Given the description of an element on the screen output the (x, y) to click on. 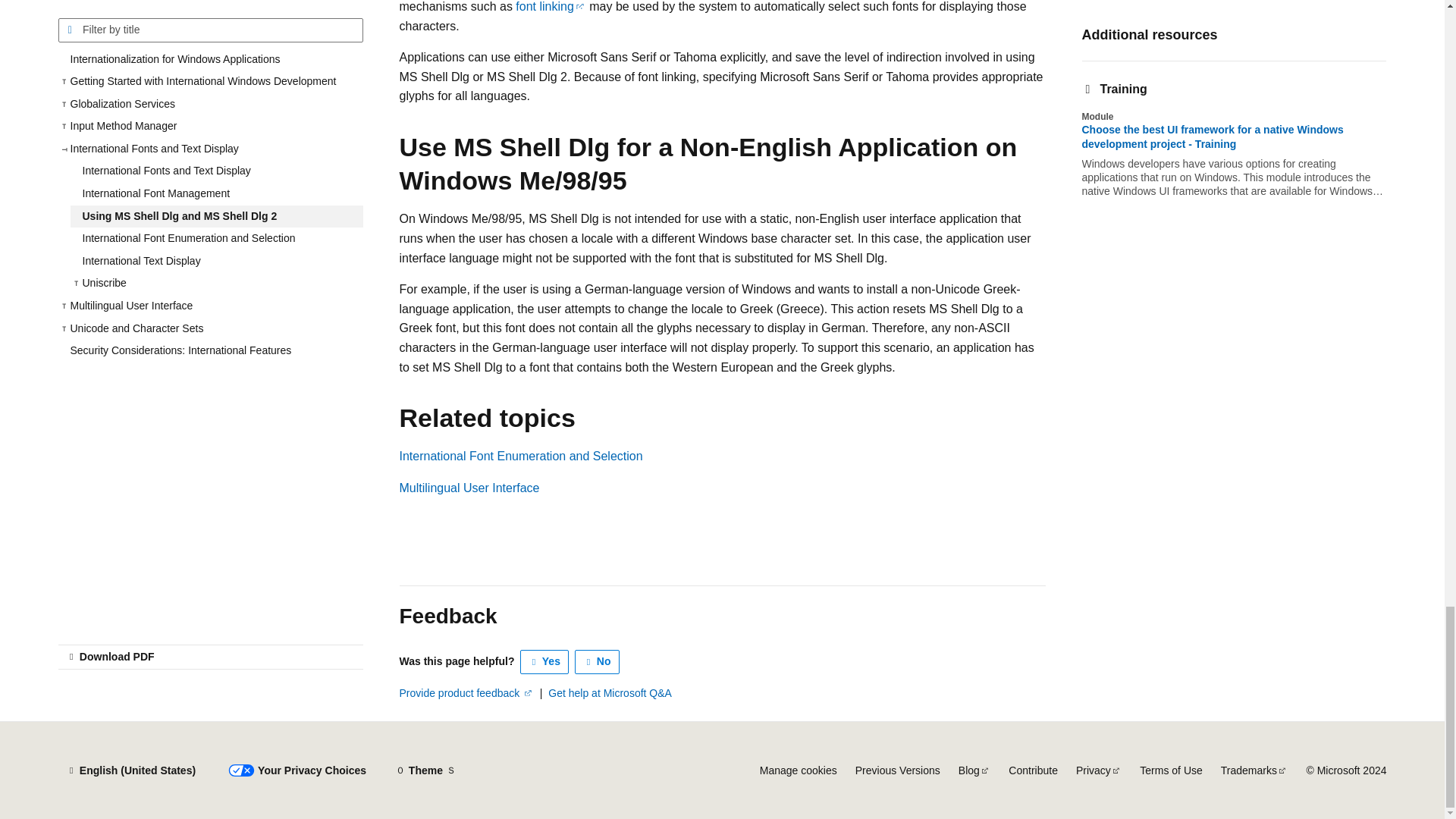
Theme (425, 770)
This article is not helpful (597, 662)
This article is helpful (544, 662)
